Given the description of an element on the screen output the (x, y) to click on. 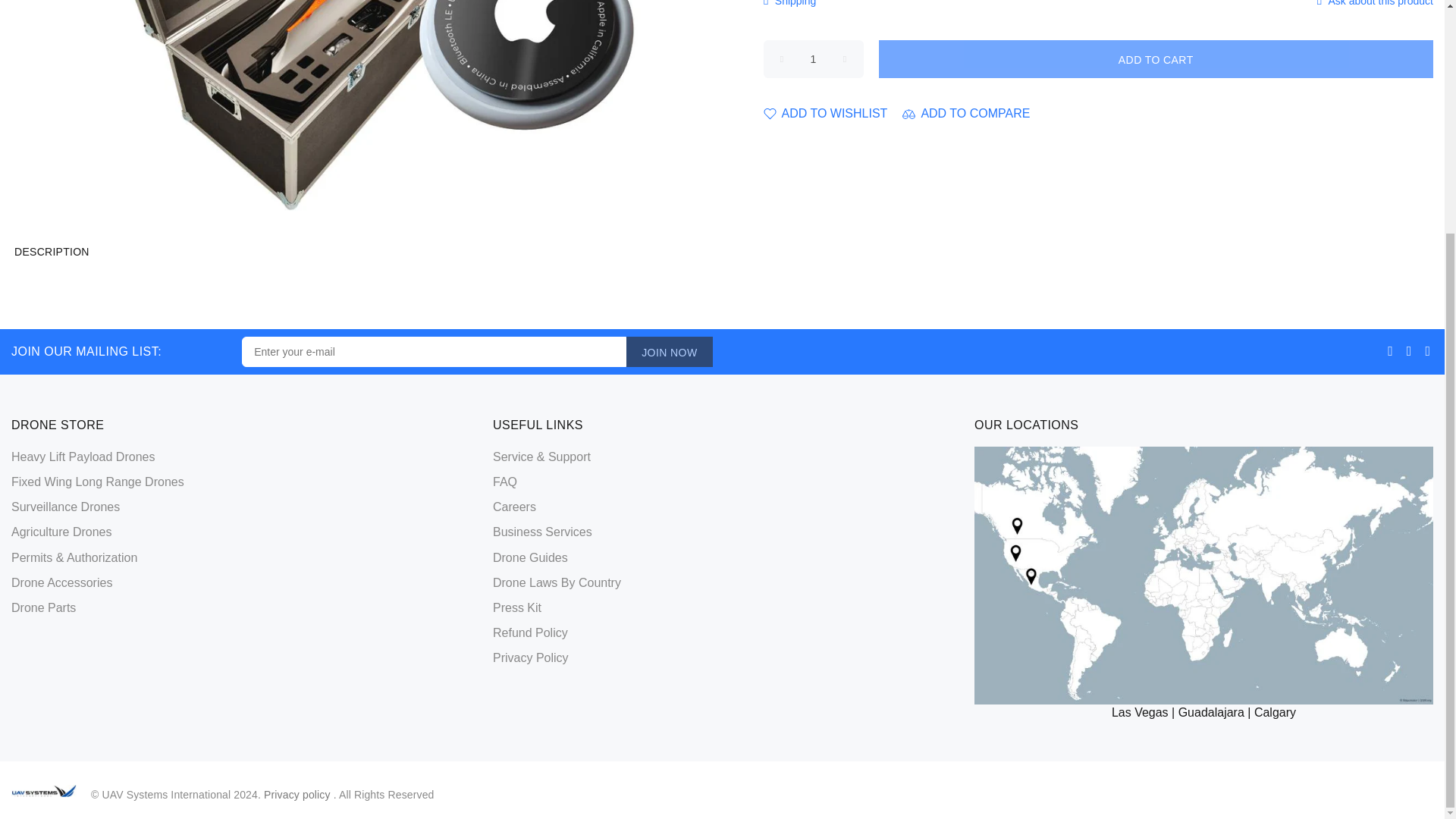
1 (812, 58)
